Given the description of an element on the screen output the (x, y) to click on. 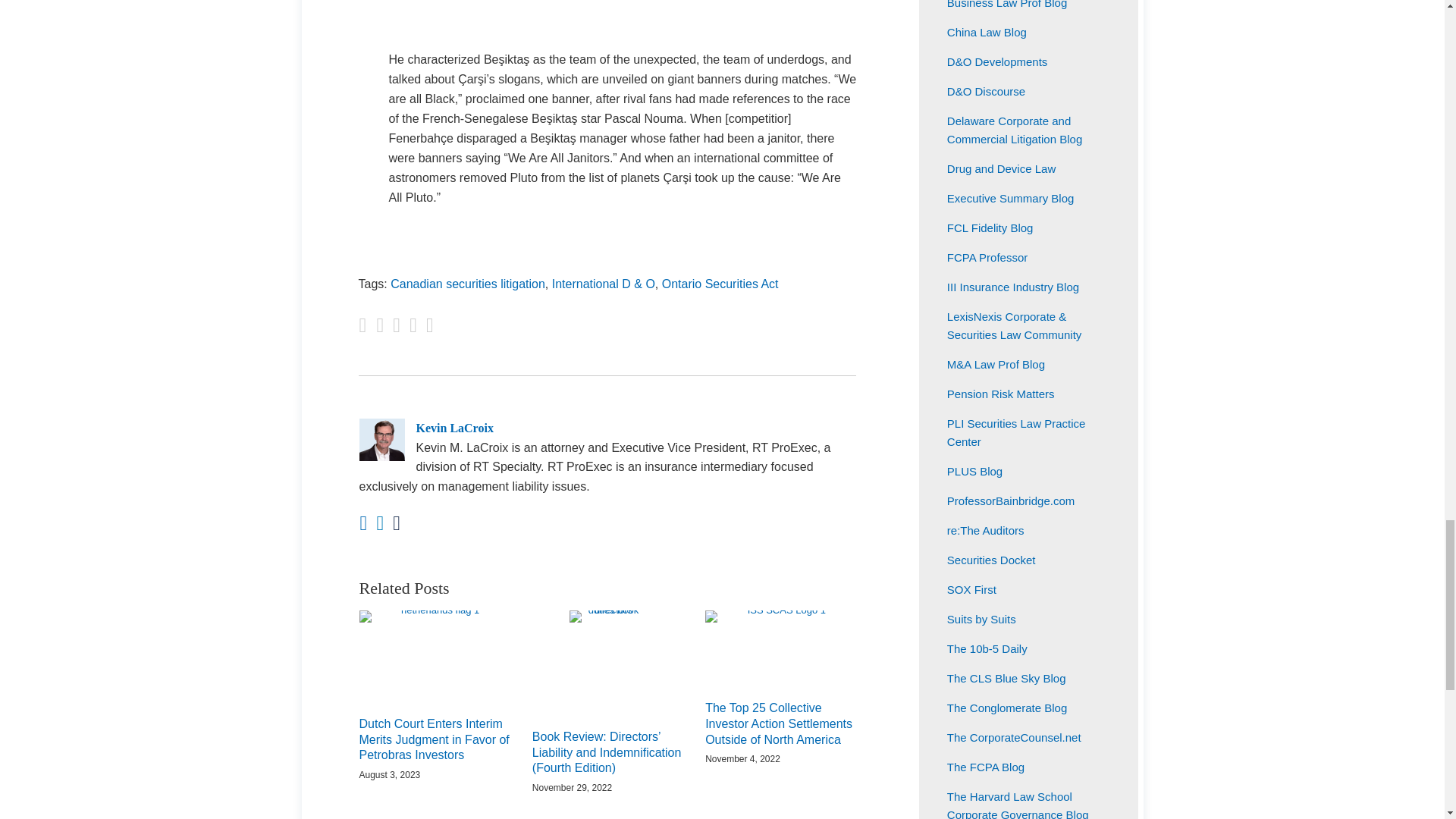
Ontario Securities Act (720, 283)
Kevin LaCroix (607, 428)
Canadian securities litigation (467, 283)
